Given the description of an element on the screen output the (x, y) to click on. 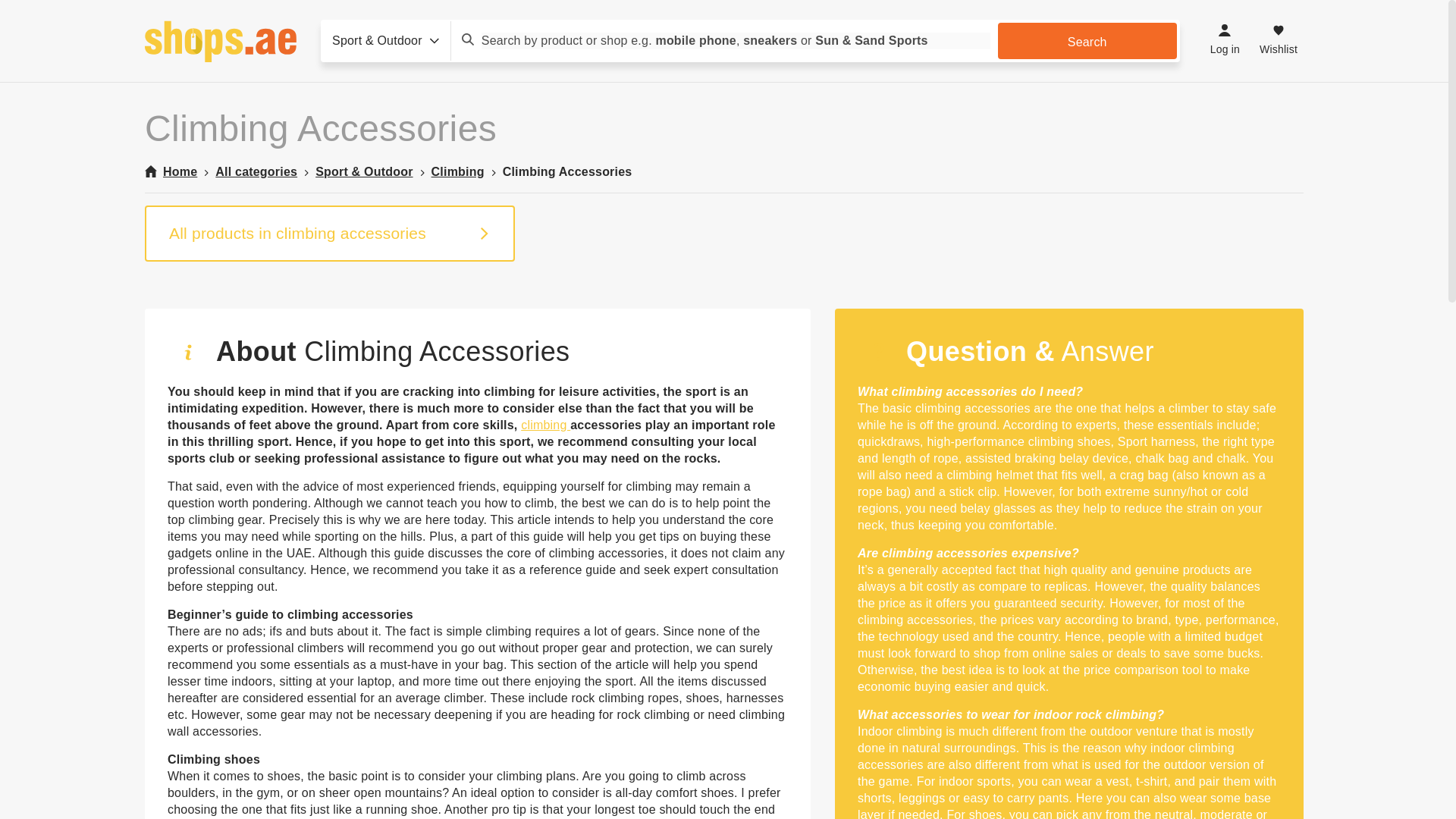
Wishlist (1278, 40)
Search (1086, 40)
All products in climbing accessories (329, 233)
shops.ae (220, 40)
Climbing (457, 171)
All categories (256, 171)
Log in (1225, 40)
Home (170, 171)
climbing (545, 424)
